Given the description of an element on the screen output the (x, y) to click on. 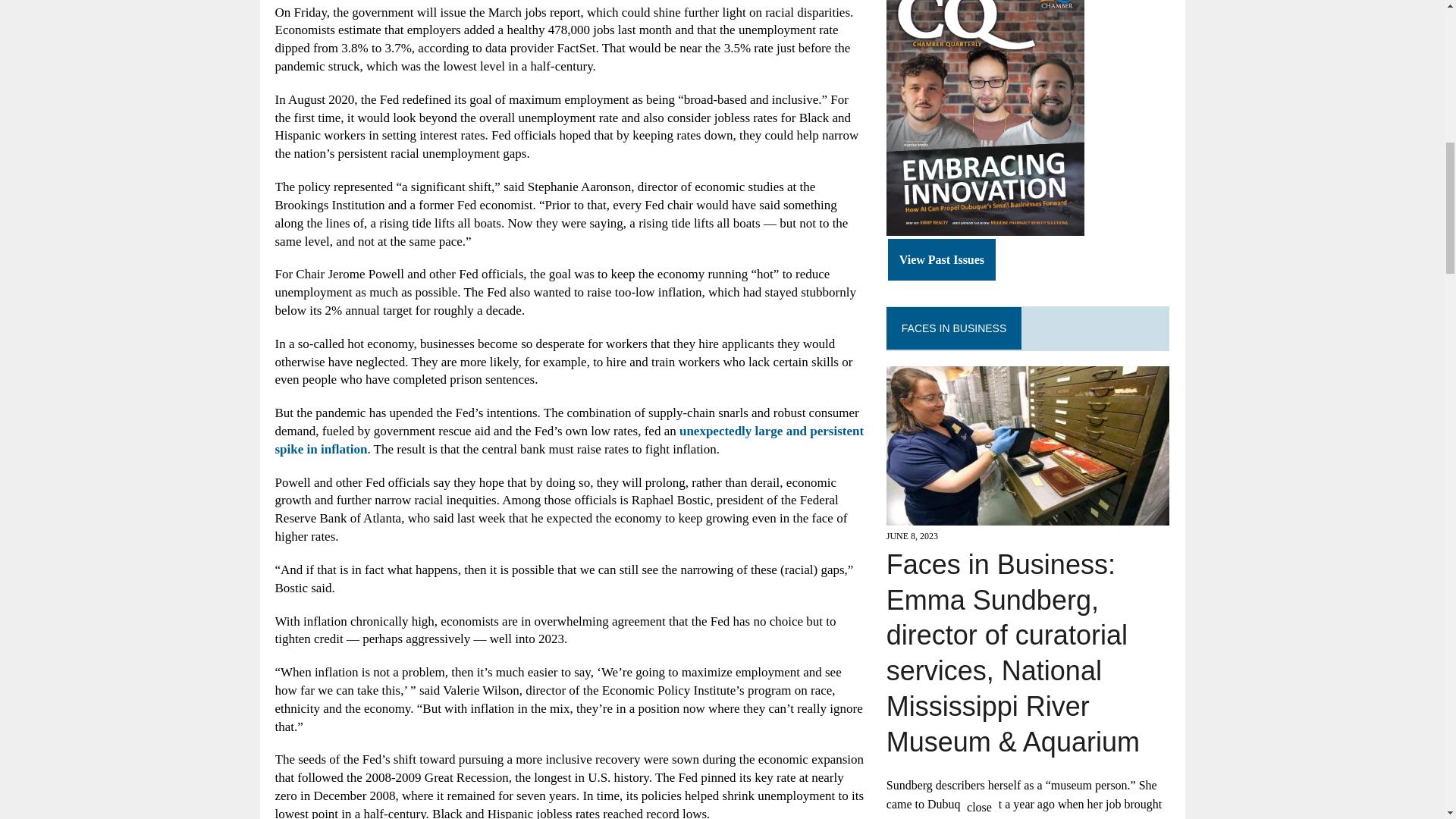
FACES IN BUSINESS (953, 328)
View Past Issues (941, 260)
unexpectedly large and persistent spike in inflation (569, 440)
